Given the description of an element on the screen output the (x, y) to click on. 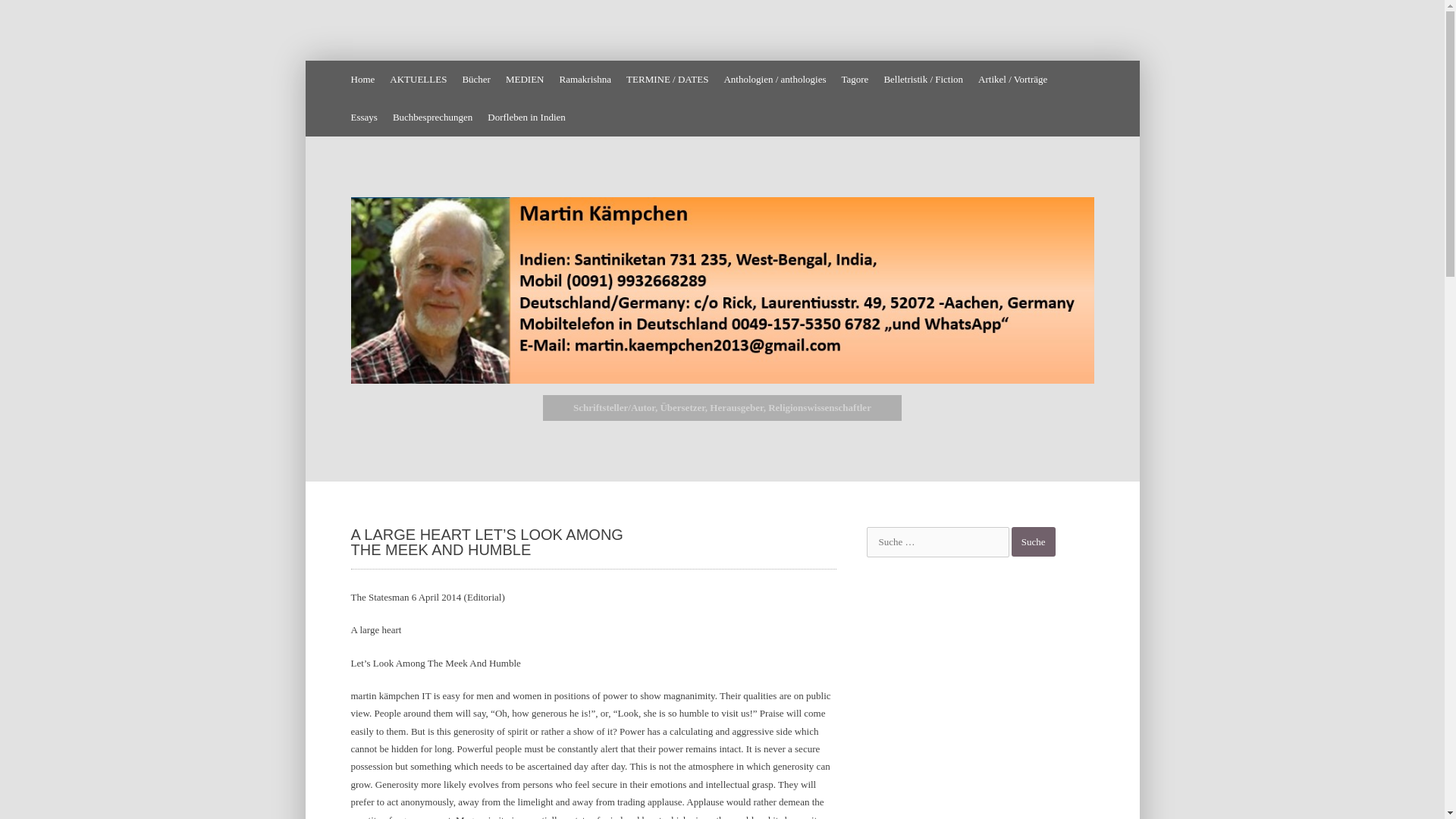
MEDIEN (524, 79)
Ramakrishna (585, 79)
AKTUELLES (418, 79)
Suche (1033, 541)
Suche (1033, 541)
